Given the description of an element on the screen output the (x, y) to click on. 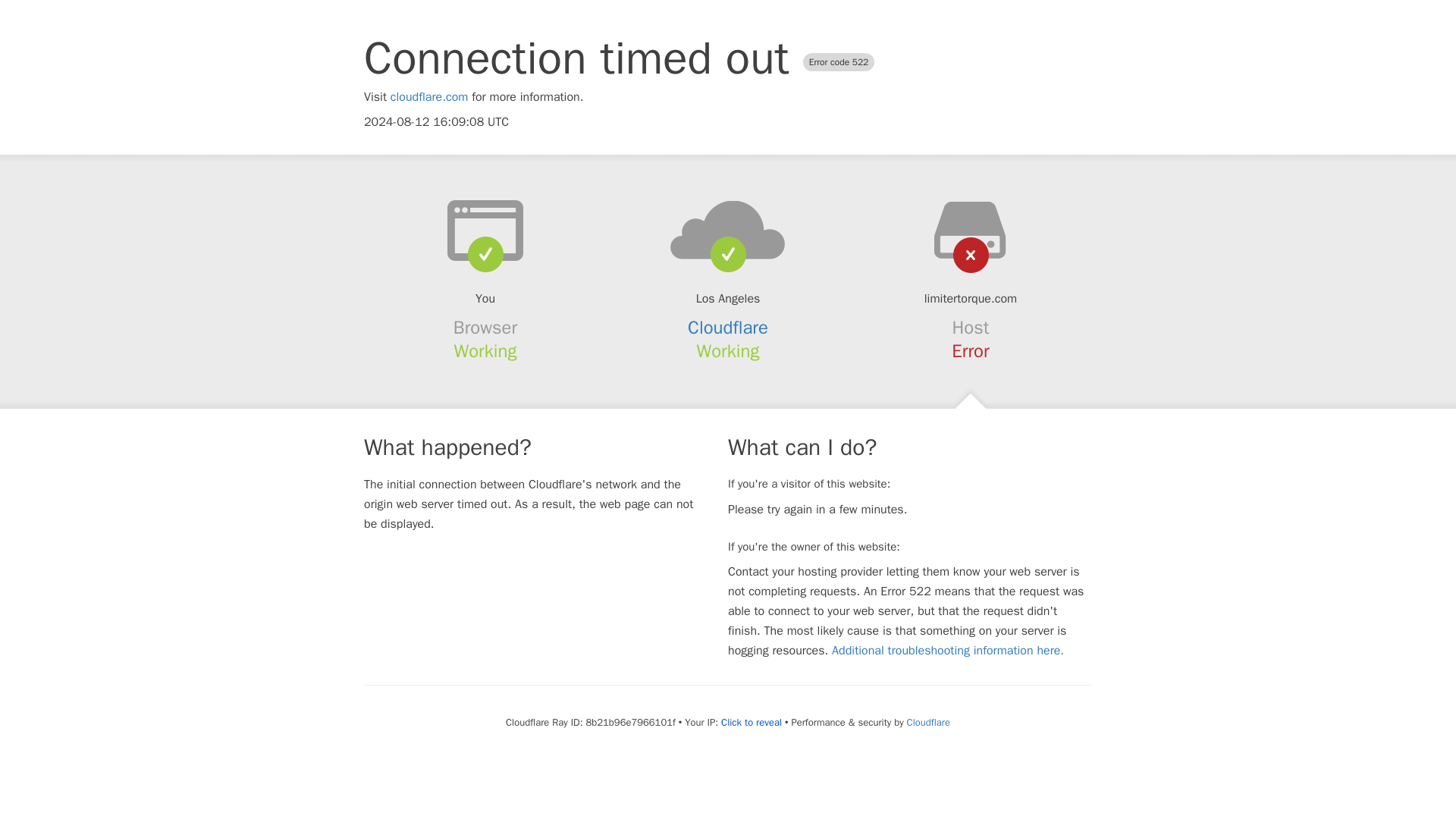
Cloudflare (928, 721)
Additional troubleshooting information here. (947, 650)
Cloudflare (727, 327)
cloudflare.com (429, 96)
Click to reveal (750, 722)
